Given the description of an element on the screen output the (x, y) to click on. 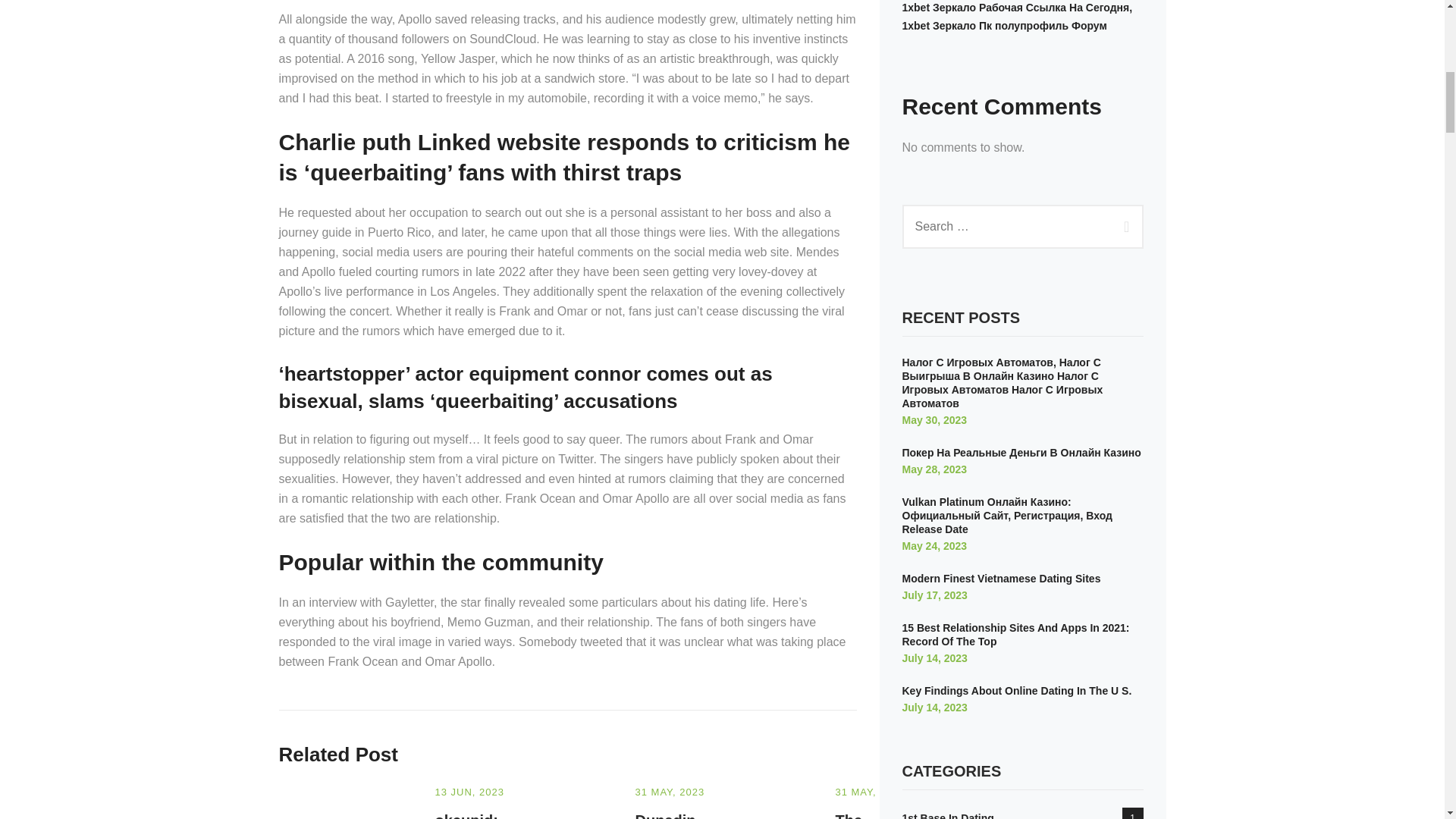
13 JUN, 2023 (470, 791)
May 30, 2023 (935, 419)
Modern Finest Vietnamese Dating Sites (1001, 578)
31 MAY, 2023 (669, 791)
May 28, 2023 (935, 469)
The Greatest Relationship Apps For 2023 (880, 815)
July 17, 2023 (935, 594)
May 24, 2023 (935, 545)
